Given the description of an element on the screen output the (x, y) to click on. 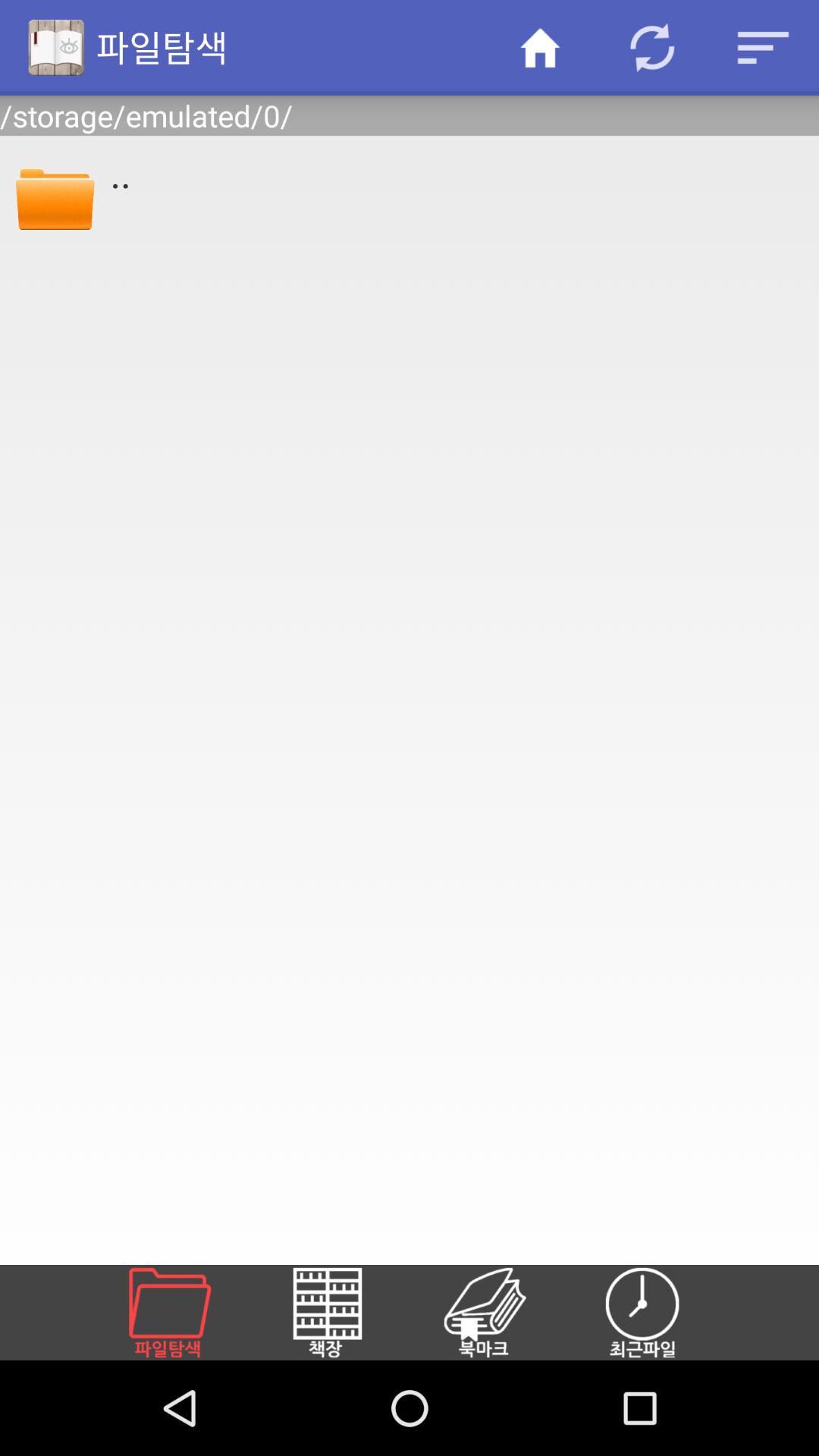
select item next to .. (55, 195)
